Given the description of an element on the screen output the (x, y) to click on. 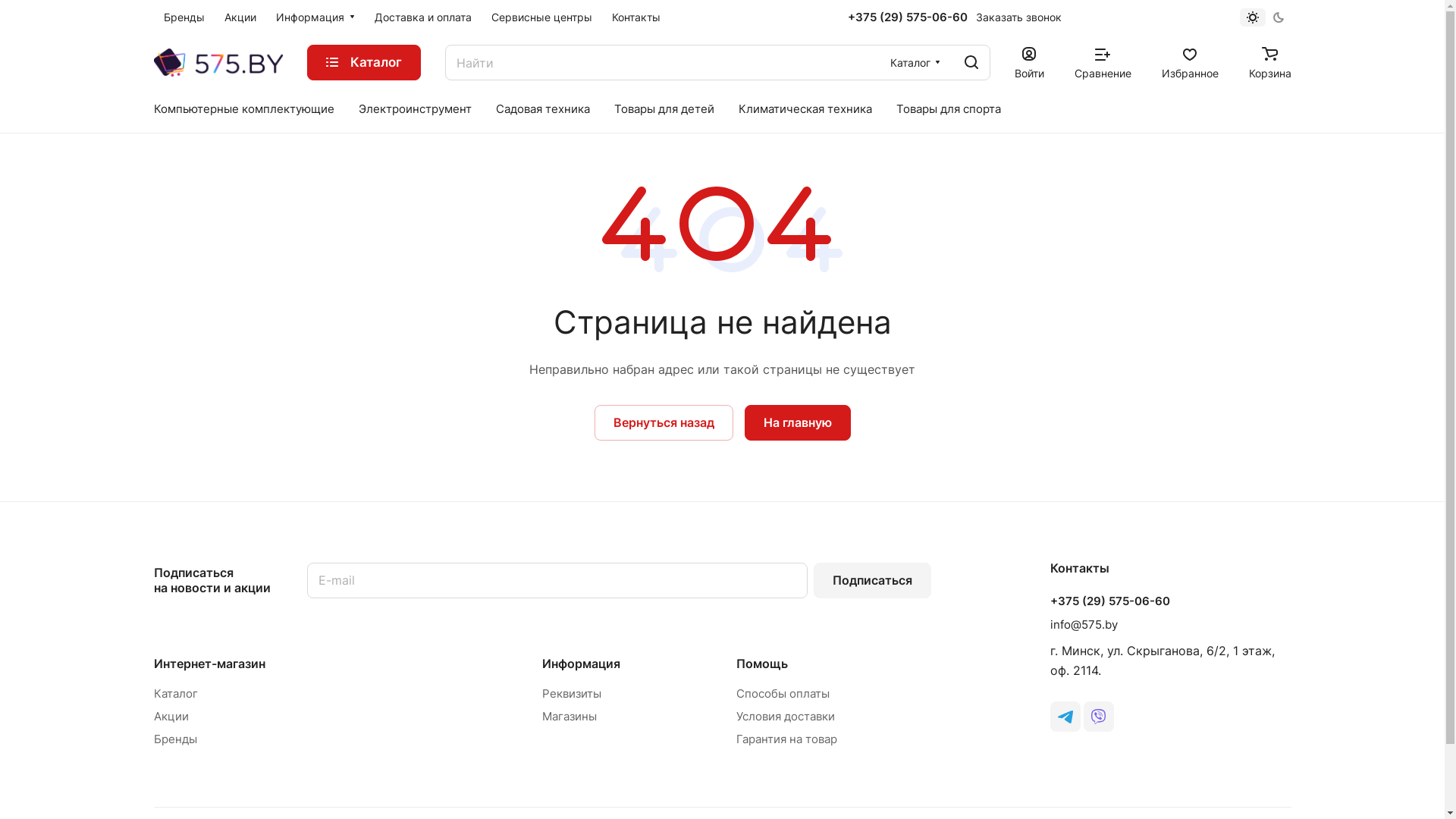
Viber Element type: hover (1097, 716)
575.by Element type: hover (217, 62)
+375 (29) 575-06-60 Element type: text (907, 17)
+375 (29) 575-06-60 Element type: text (1109, 601)
info@575.by Element type: text (1083, 624)
Telegram Element type: hover (1064, 716)
